Given the description of an element on the screen output the (x, y) to click on. 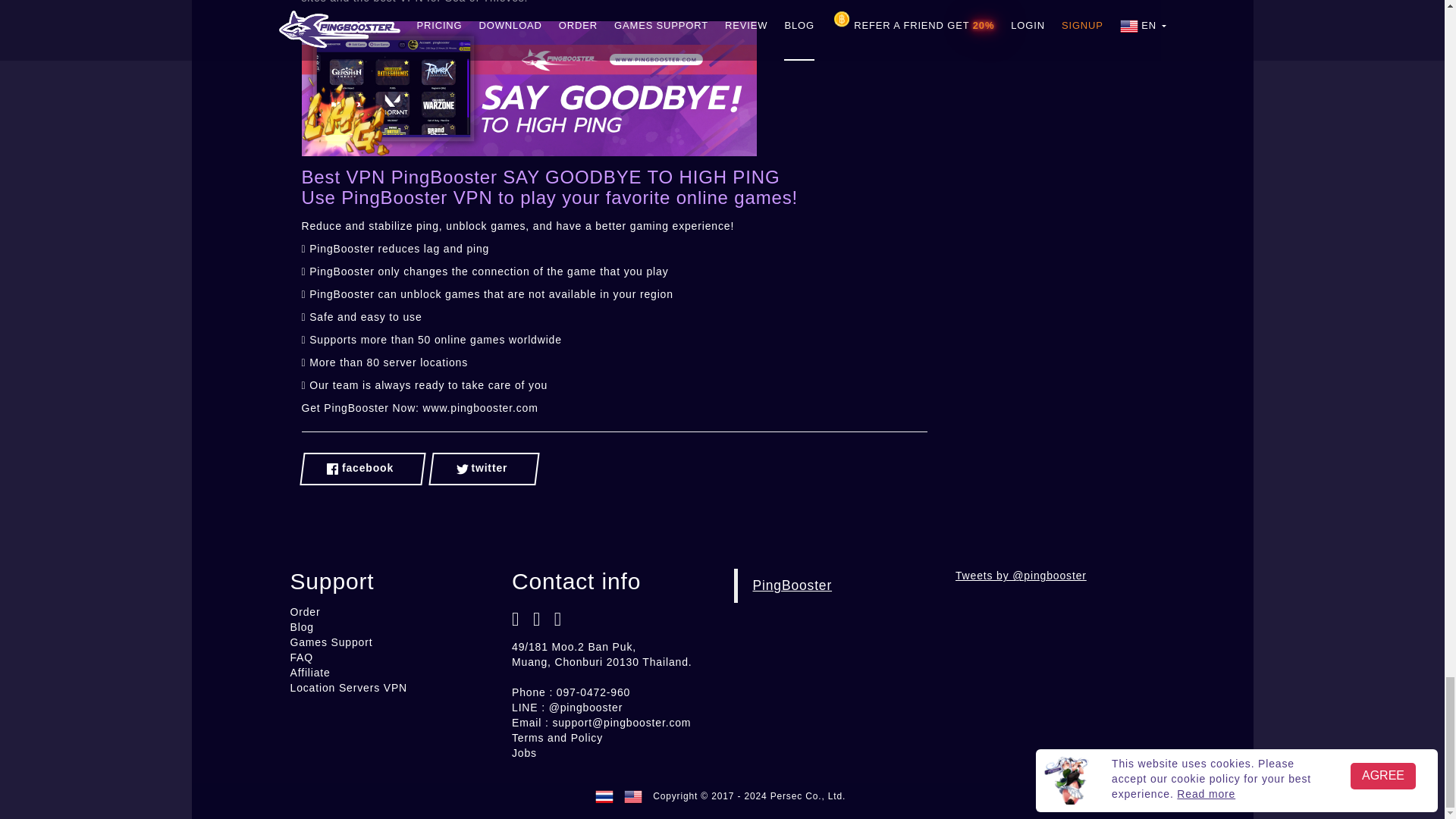
Terms and Policy (557, 737)
Location Servers VPN (348, 687)
Jobs (524, 752)
Share link on Facebook (362, 468)
Affiliate (309, 672)
FAQ (301, 657)
Blog (301, 626)
Order (304, 612)
Share link on Twitter (483, 468)
Games Support (330, 642)
